Given the description of an element on the screen output the (x, y) to click on. 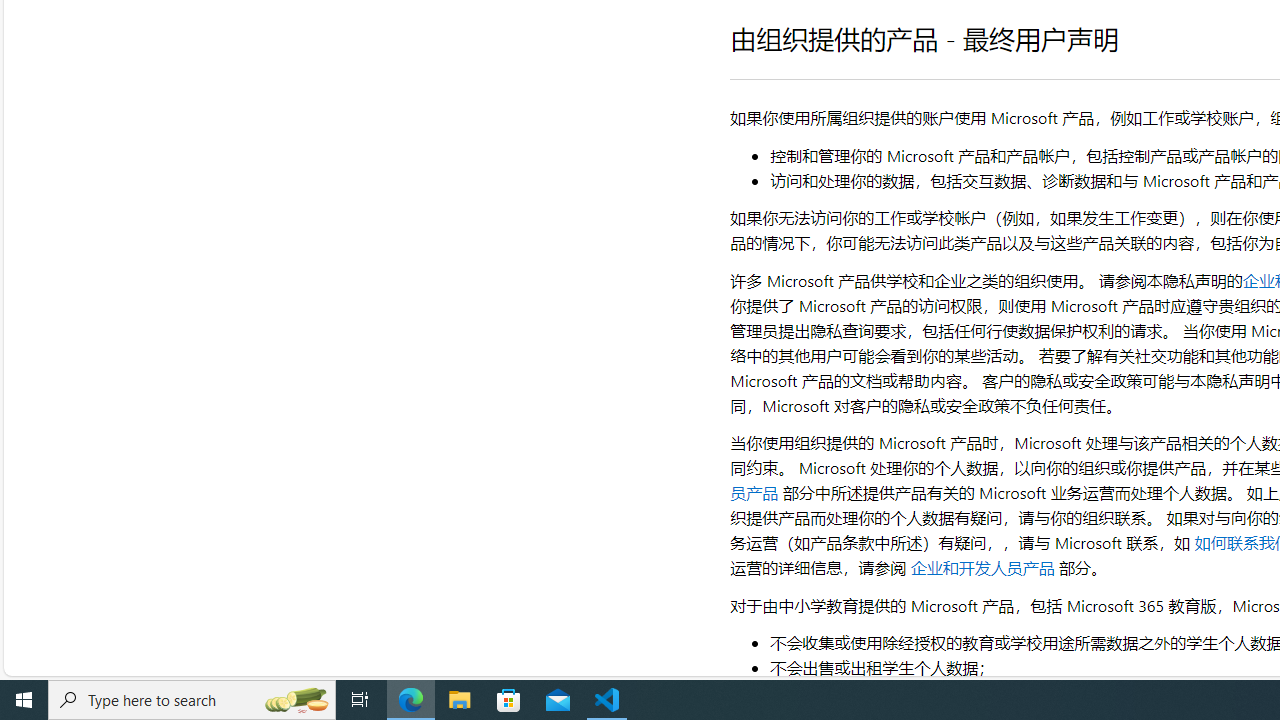
Task View (359, 699)
Search highlights icon opens search home window (295, 699)
Microsoft Edge - 1 running window (411, 699)
Microsoft Store (509, 699)
Type here to search (191, 699)
Start (24, 699)
File Explorer (460, 699)
Visual Studio Code - 1 running window (607, 699)
